Given the description of an element on the screen output the (x, y) to click on. 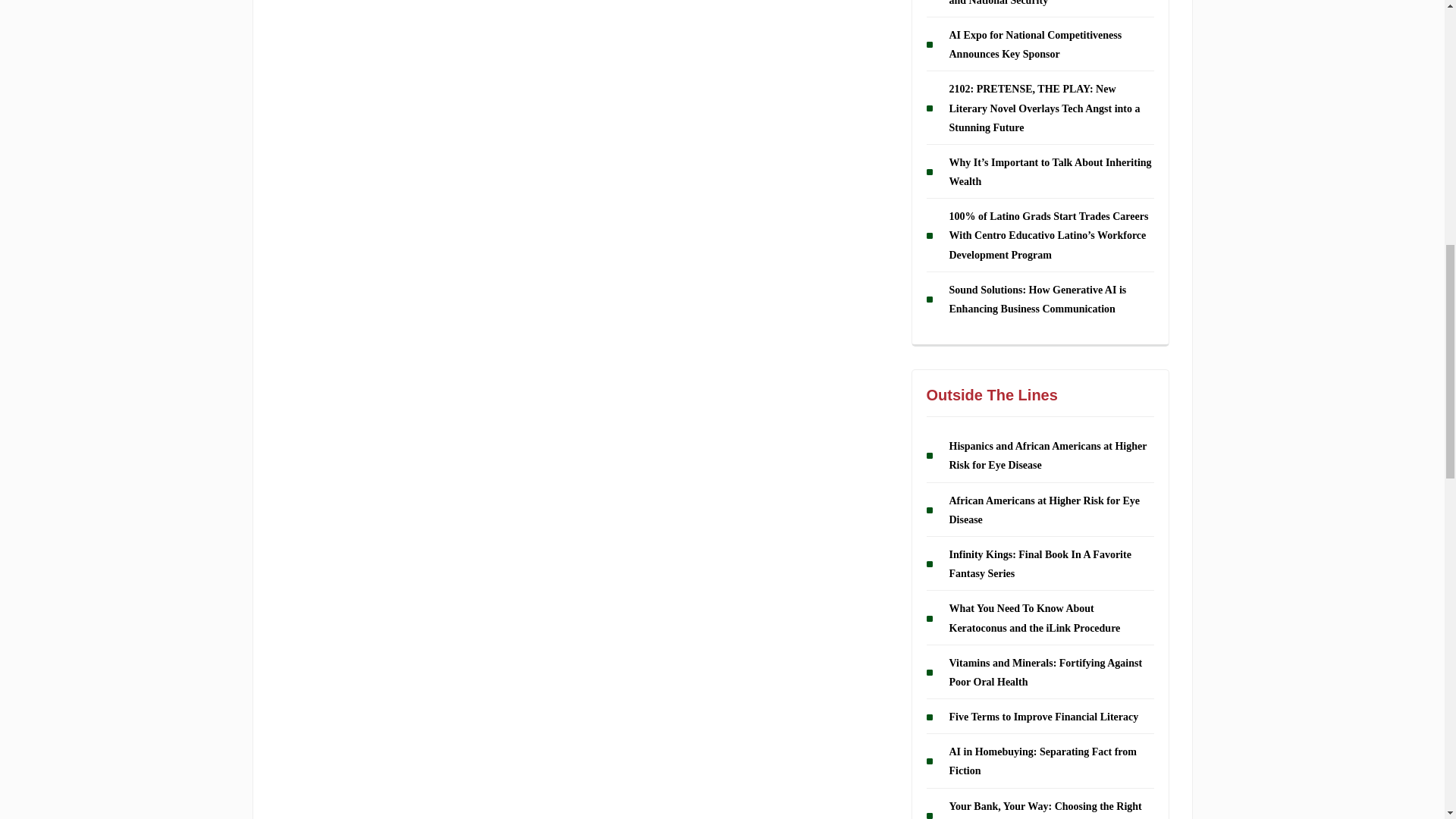
AI Expo for National Competitiveness Announces Key Sponsor (1035, 44)
AI Expo for National Competitiveness Announces Key Sponsor (1035, 44)
